Given the description of an element on the screen output the (x, y) to click on. 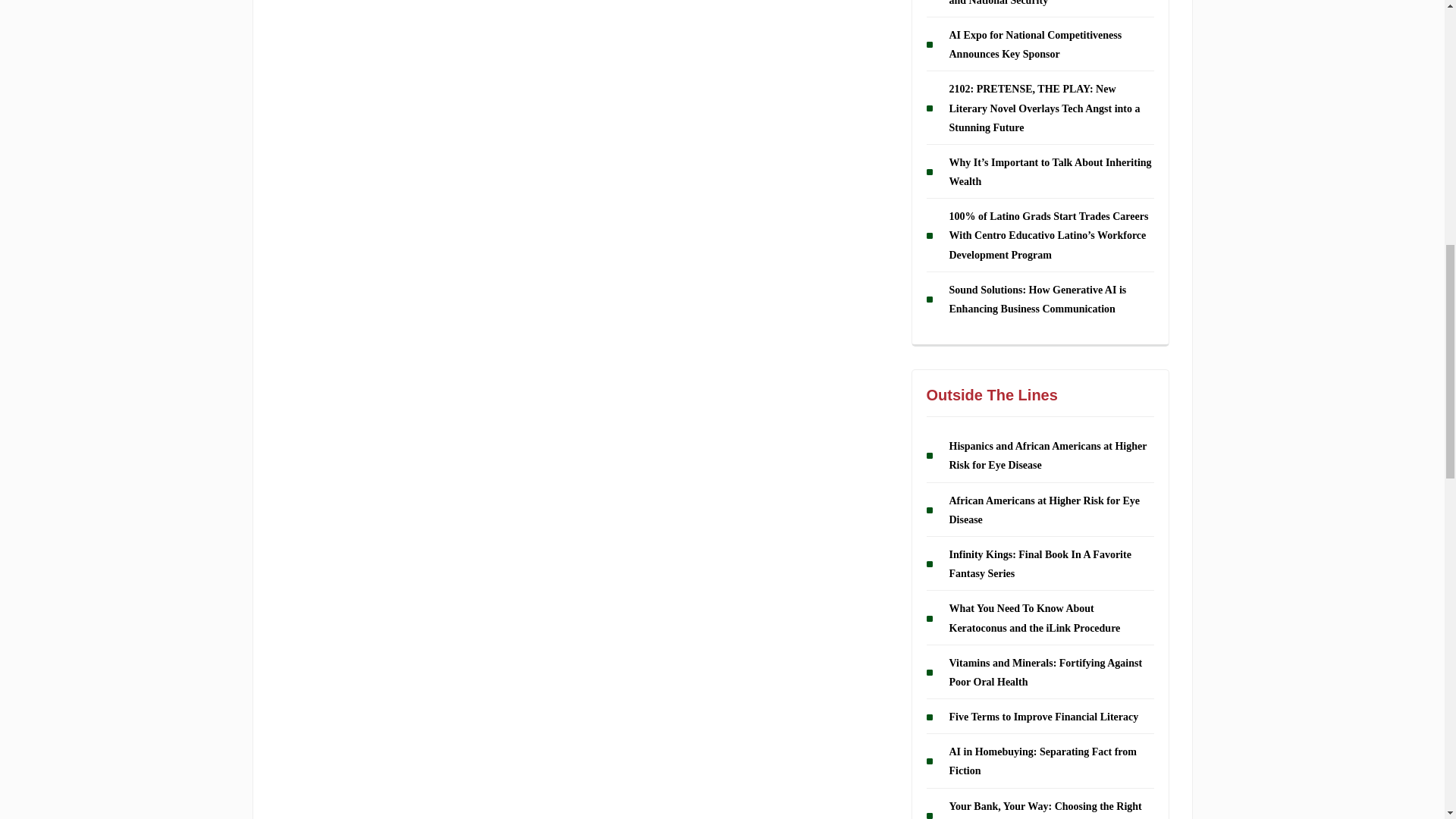
AI Expo for National Competitiveness Announces Key Sponsor (1035, 44)
AI Expo for National Competitiveness Announces Key Sponsor (1035, 44)
